Given the description of an element on the screen output the (x, y) to click on. 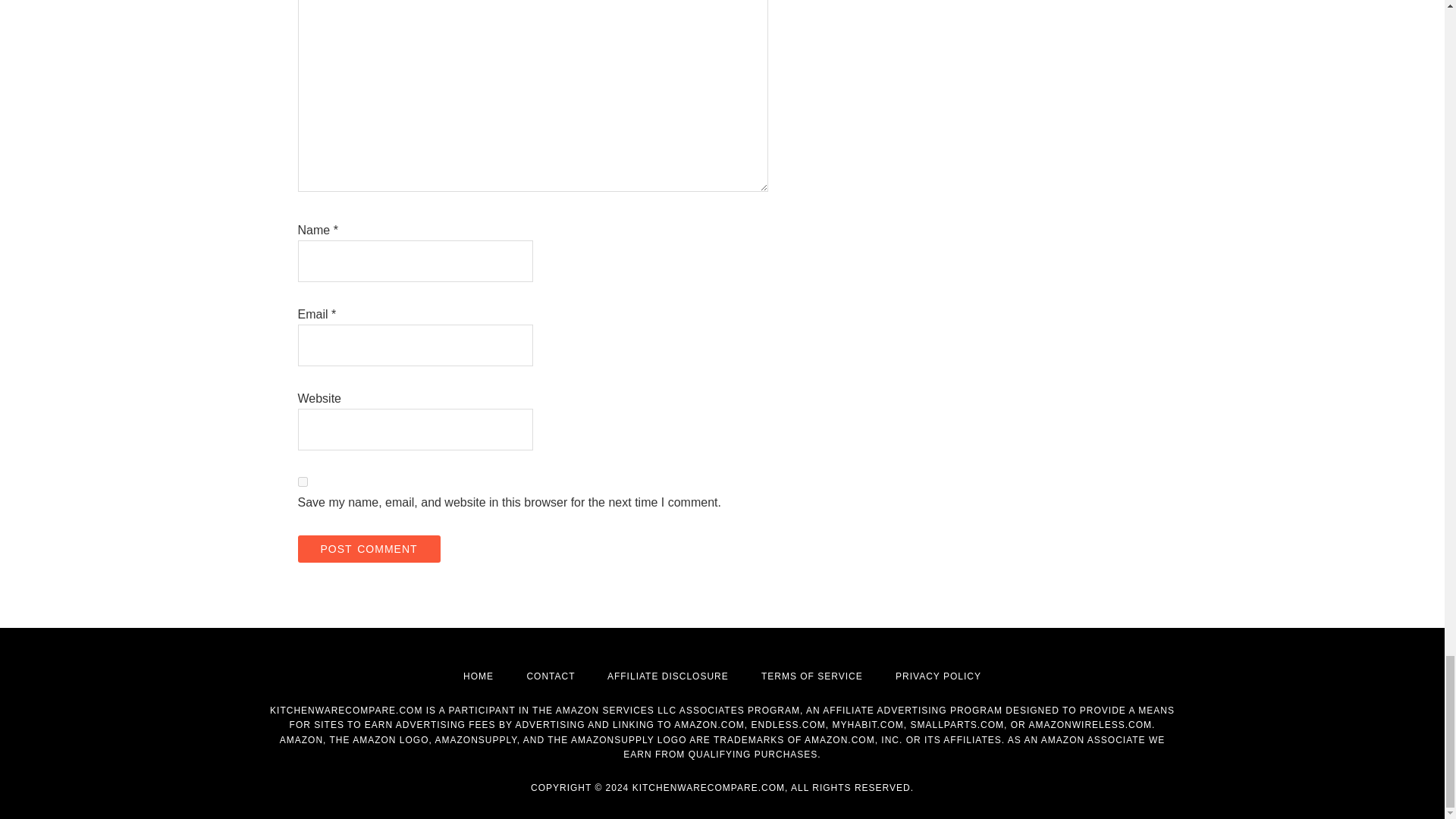
Post Comment (368, 548)
Post Comment (368, 548)
yes (302, 481)
